Given the description of an element on the screen output the (x, y) to click on. 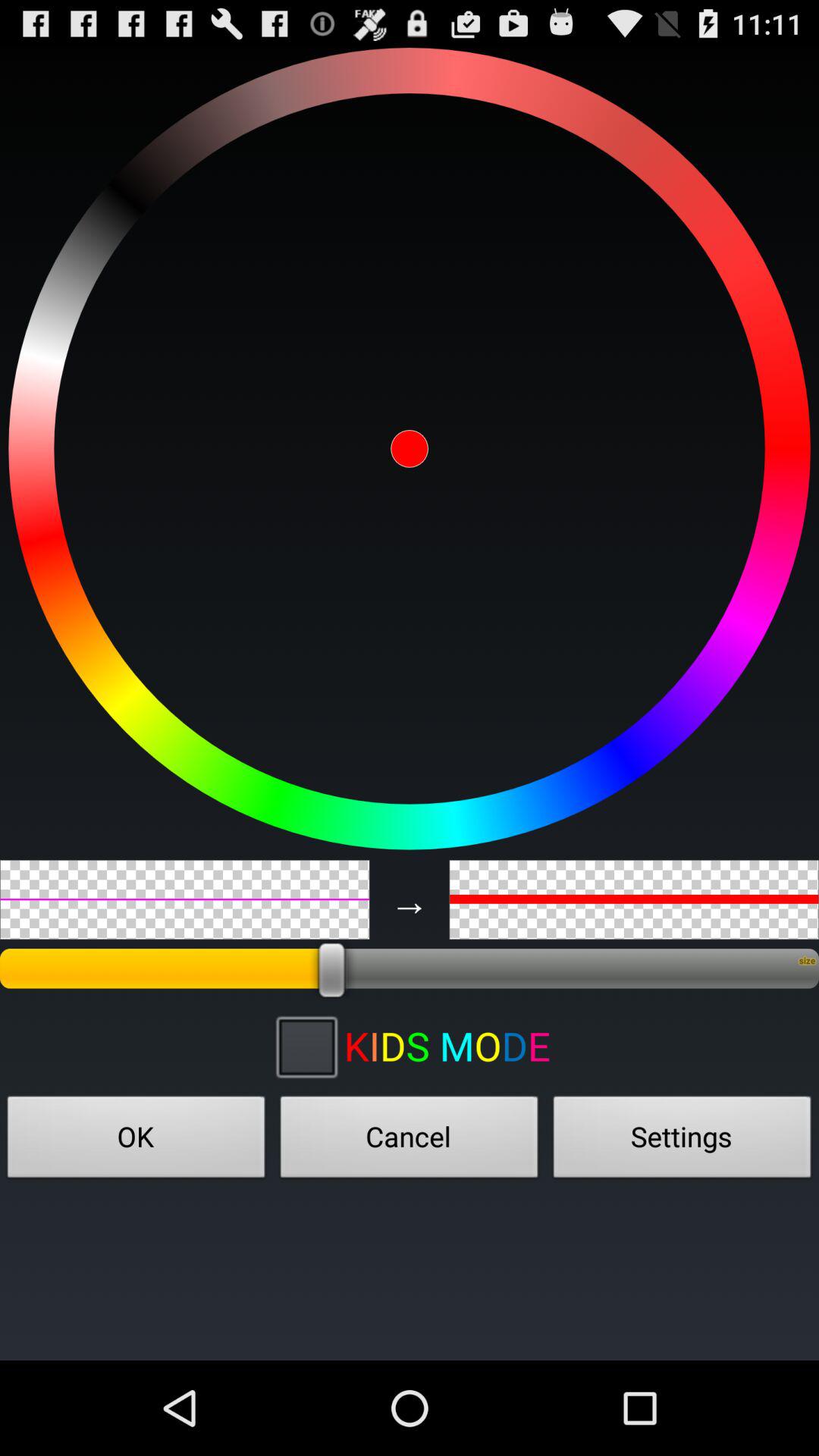
launch ok icon (136, 1141)
